Given the description of an element on the screen output the (x, y) to click on. 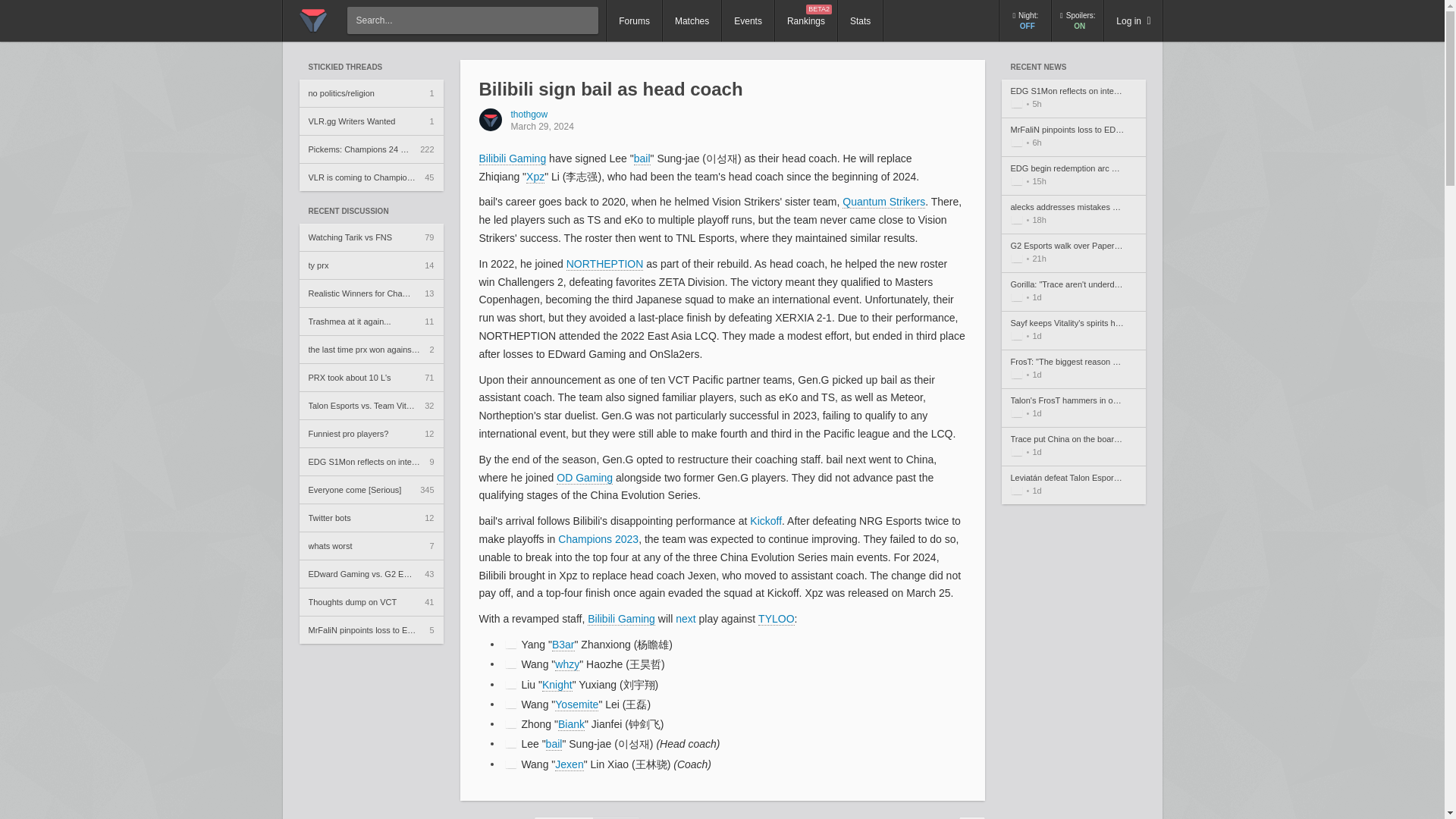
VLR is coming to Champions Seoul! (370, 176)
whats worst  (805, 20)
RECENT DISCUSSION (370, 148)
Watching Tarik vs FNS (370, 121)
